Given the description of an element on the screen output the (x, y) to click on. 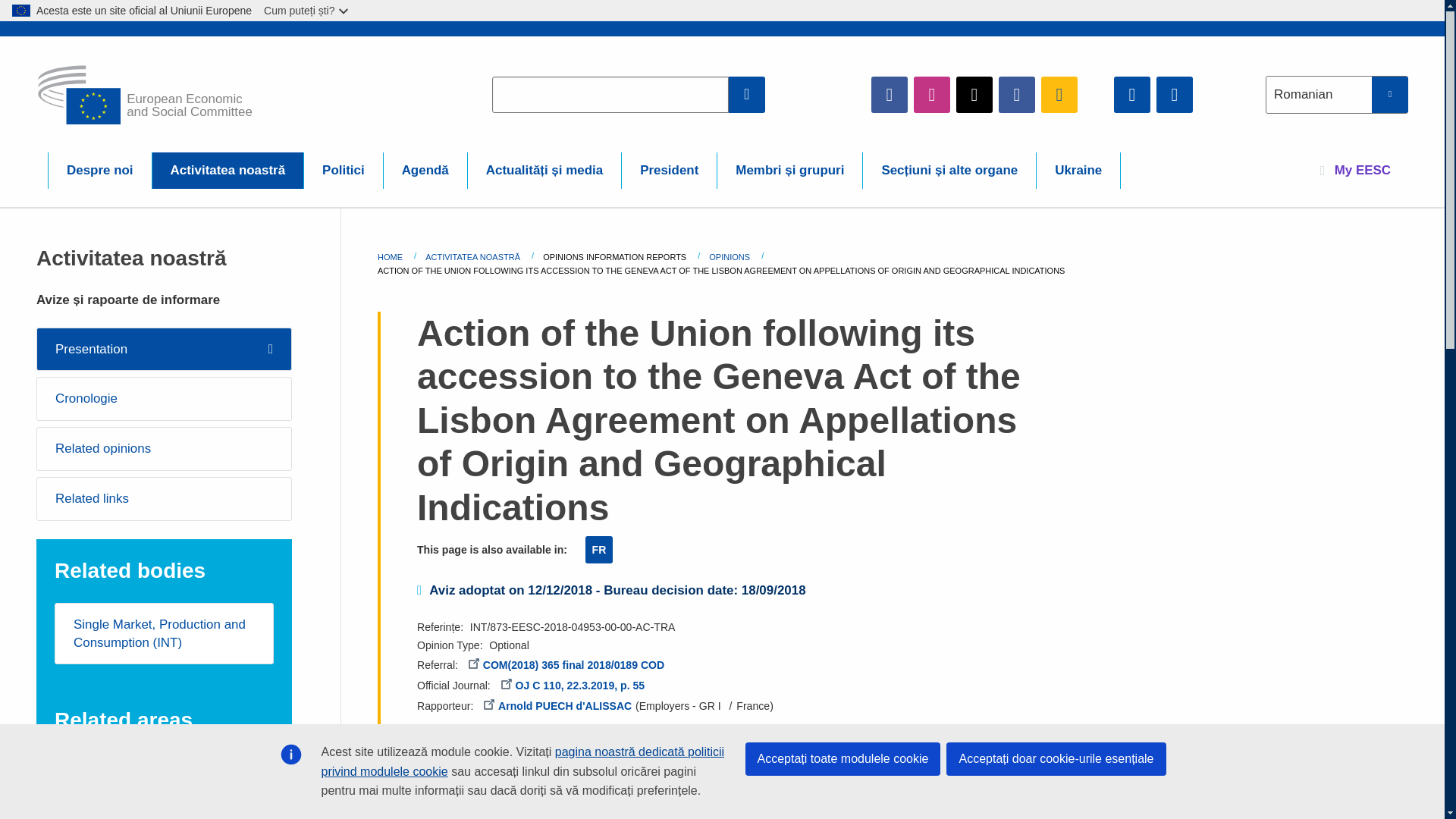
My EESC (1355, 170)
Search EESC Website (747, 94)
